Given the description of an element on the screen output the (x, y) to click on. 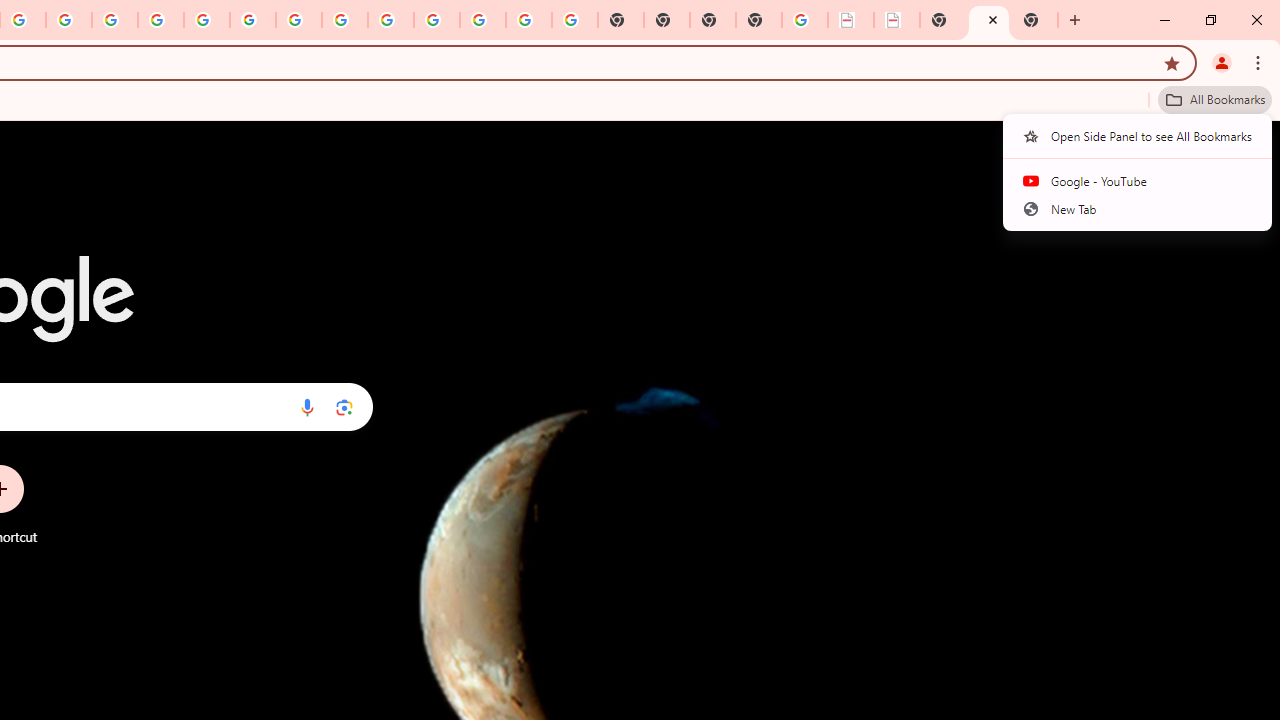
Search by voice (307, 407)
BAE Systems Brasil | BAE Systems (897, 20)
LAAD Defence & Security 2025 | BAE Systems (851, 20)
New Tab (759, 20)
Privacy Help Center - Policies Help (115, 20)
